Given the description of an element on the screen output the (x, y) to click on. 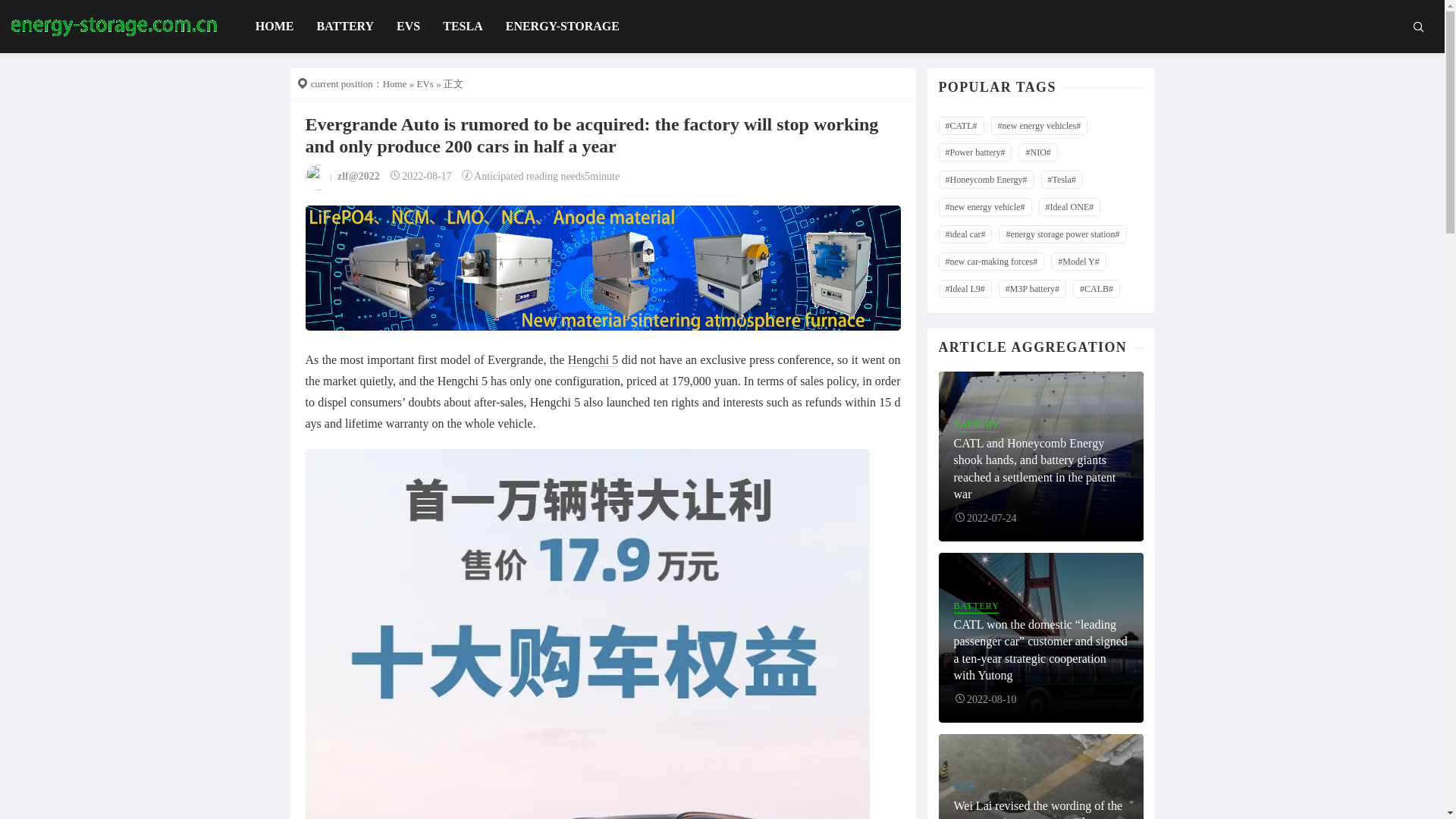
BATTERY (344, 26)
Home (394, 83)
EVs (424, 83)
HOME (274, 26)
2022-08-17 (419, 175)
TESLA (461, 26)
Hengchi 5 (592, 359)
Hengchi 5 (592, 359)
ENERGY-STORAGE (562, 26)
